Given the description of an element on the screen output the (x, y) to click on. 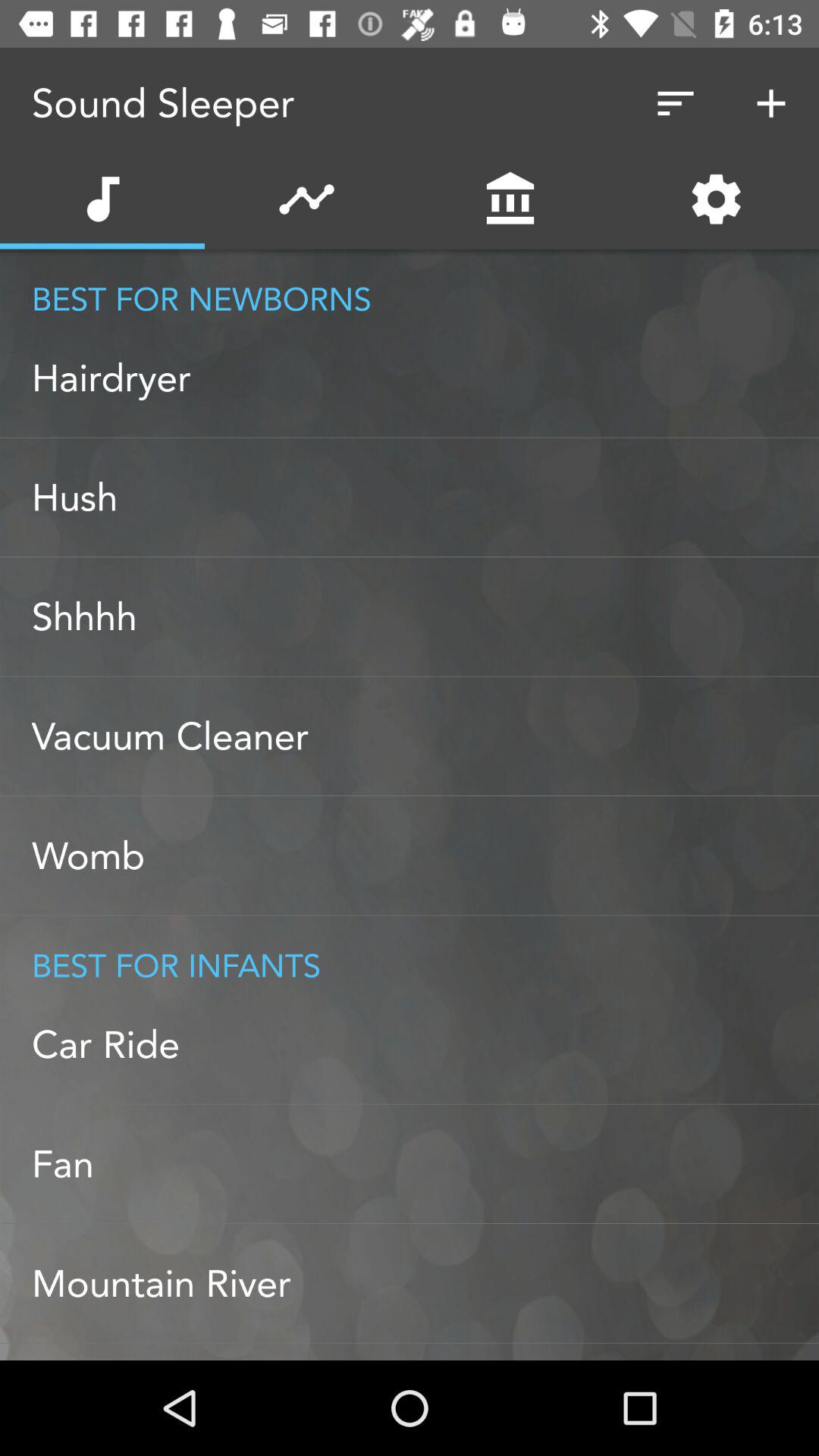
launch icon above the best for infants (425, 855)
